Given the description of an element on the screen output the (x, y) to click on. 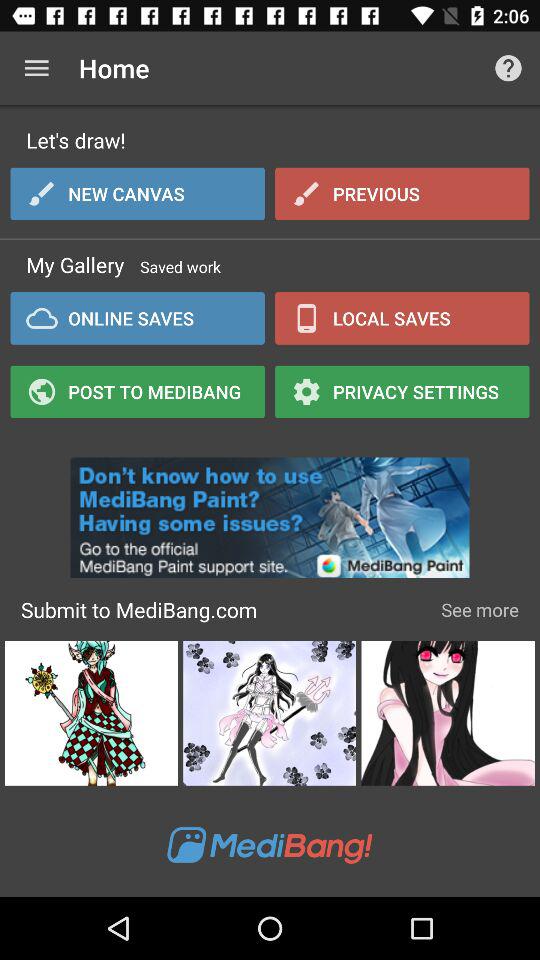
turn off the icon next to the home icon (36, 68)
